Given the description of an element on the screen output the (x, y) to click on. 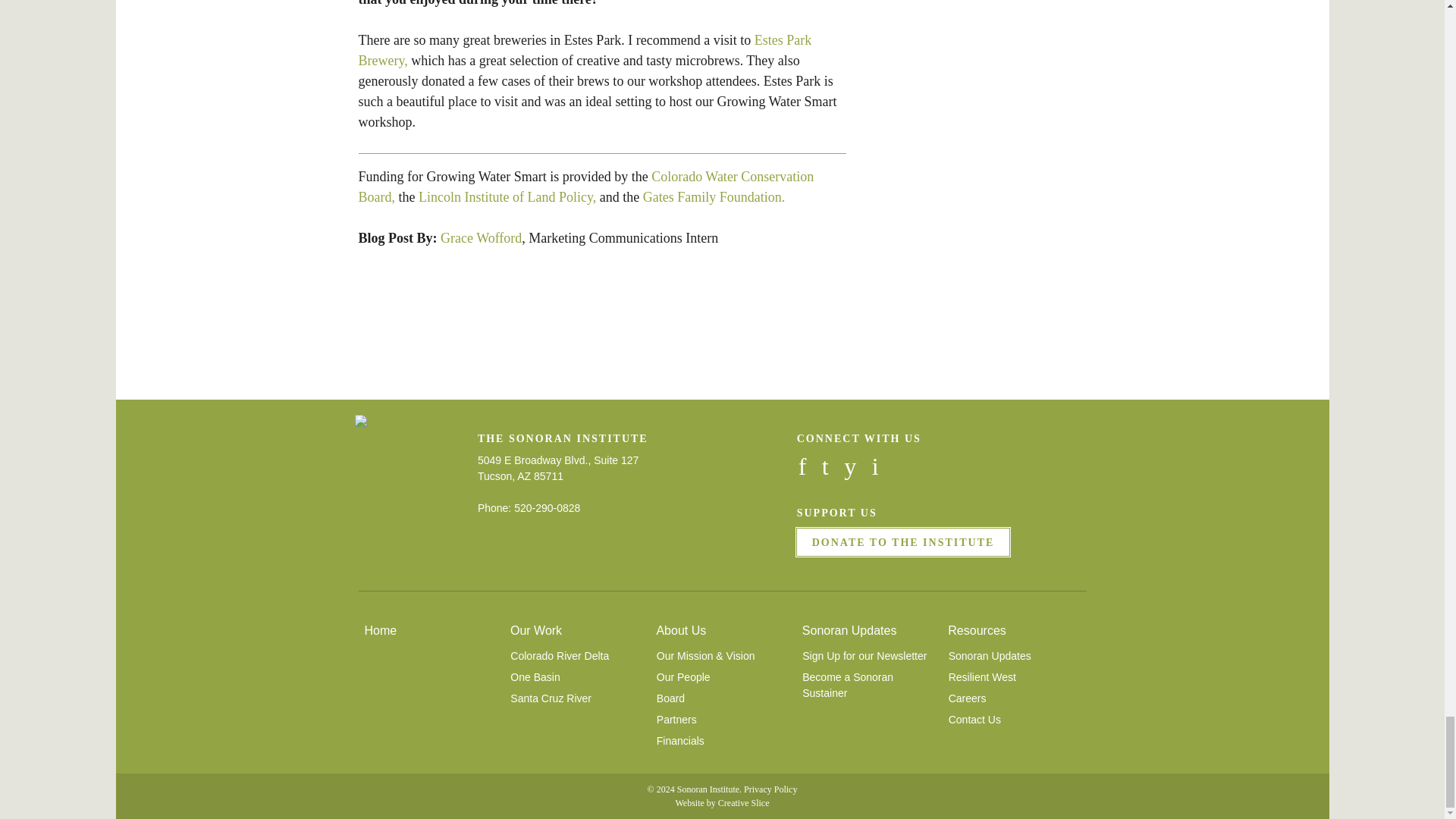
Grace Wofford (481, 237)
Lincoln Institute of Land Policy, (507, 196)
Colorado Water Conservation Board, (585, 186)
Estes Park Brewery, (584, 49)
Gates Family Foundation. (714, 196)
